Given the description of an element on the screen output the (x, y) to click on. 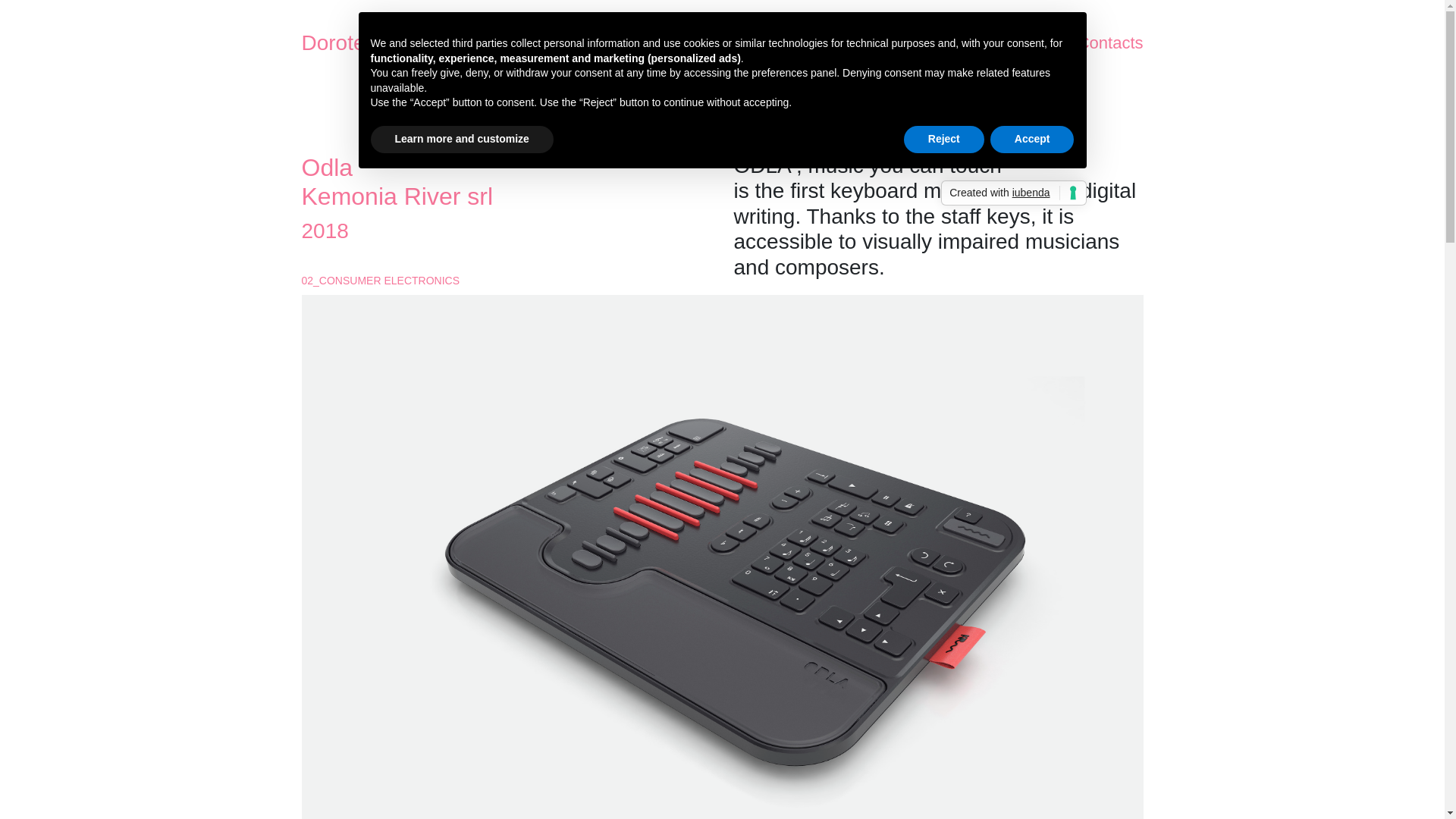
Created with iubenda (1013, 193)
Blog (987, 42)
About (755, 42)
Dorotea Panzarella (392, 42)
Works (874, 42)
Accept (1032, 139)
Learn more and customize (461, 139)
Contacts (1109, 42)
Link to Home Page (392, 42)
Reject (944, 139)
iubenda - Cookie Policy and Cookie Compliance Management (1013, 193)
